Given the description of an element on the screen output the (x, y) to click on. 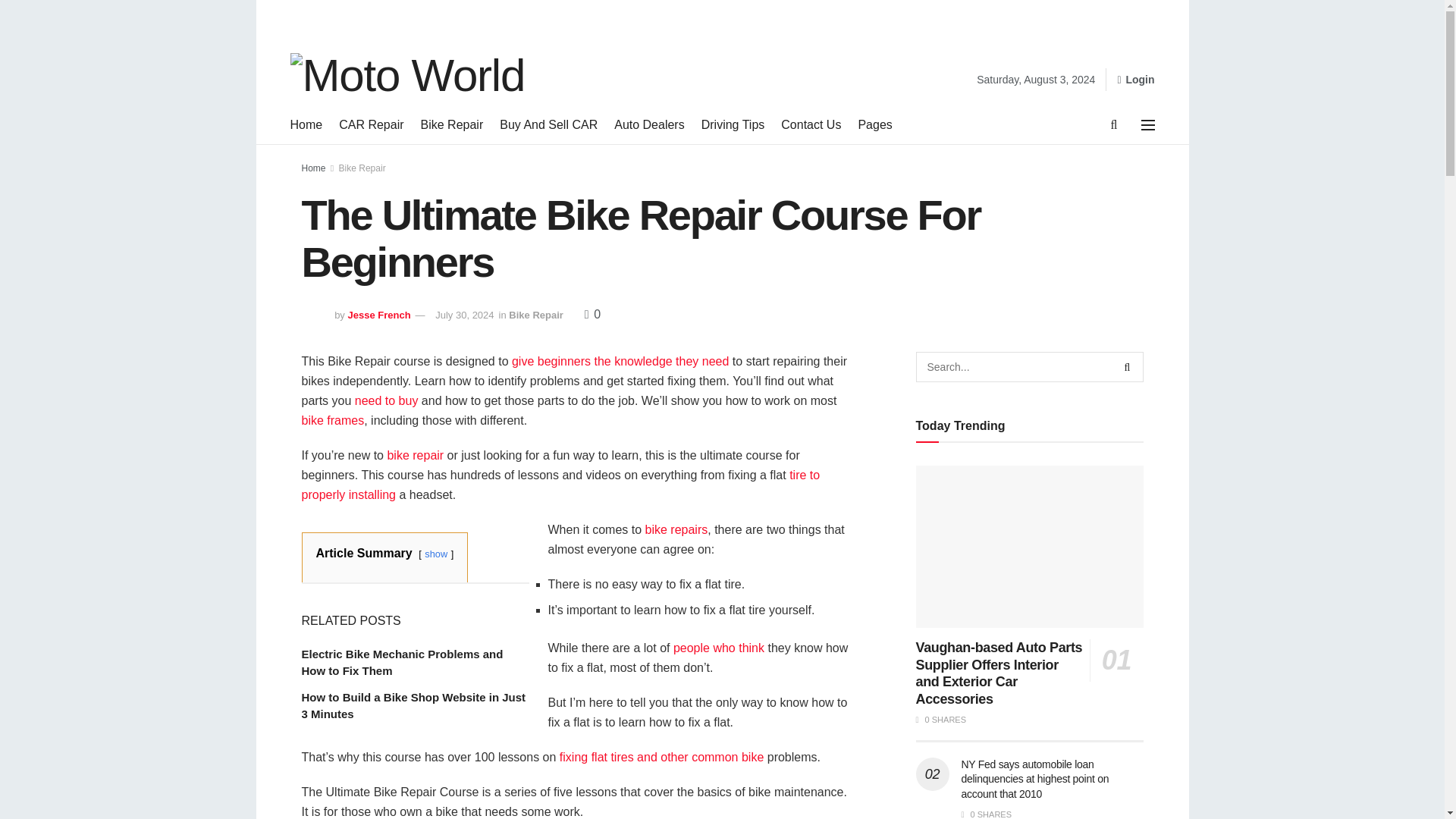
Buy And Sell CAR (547, 124)
Pages (874, 124)
Bike Repair (451, 124)
Login (1135, 79)
Driving Tips (733, 124)
Home (305, 124)
Where to Go to Get a Bike Fixed in San Diego (660, 757)
Contact Us (810, 124)
CAR Repair (371, 124)
Need a New Sport Car? Compare and Buy Your Dream Car Here (387, 400)
Auto Dealers (649, 124)
